Given the description of an element on the screen output the (x, y) to click on. 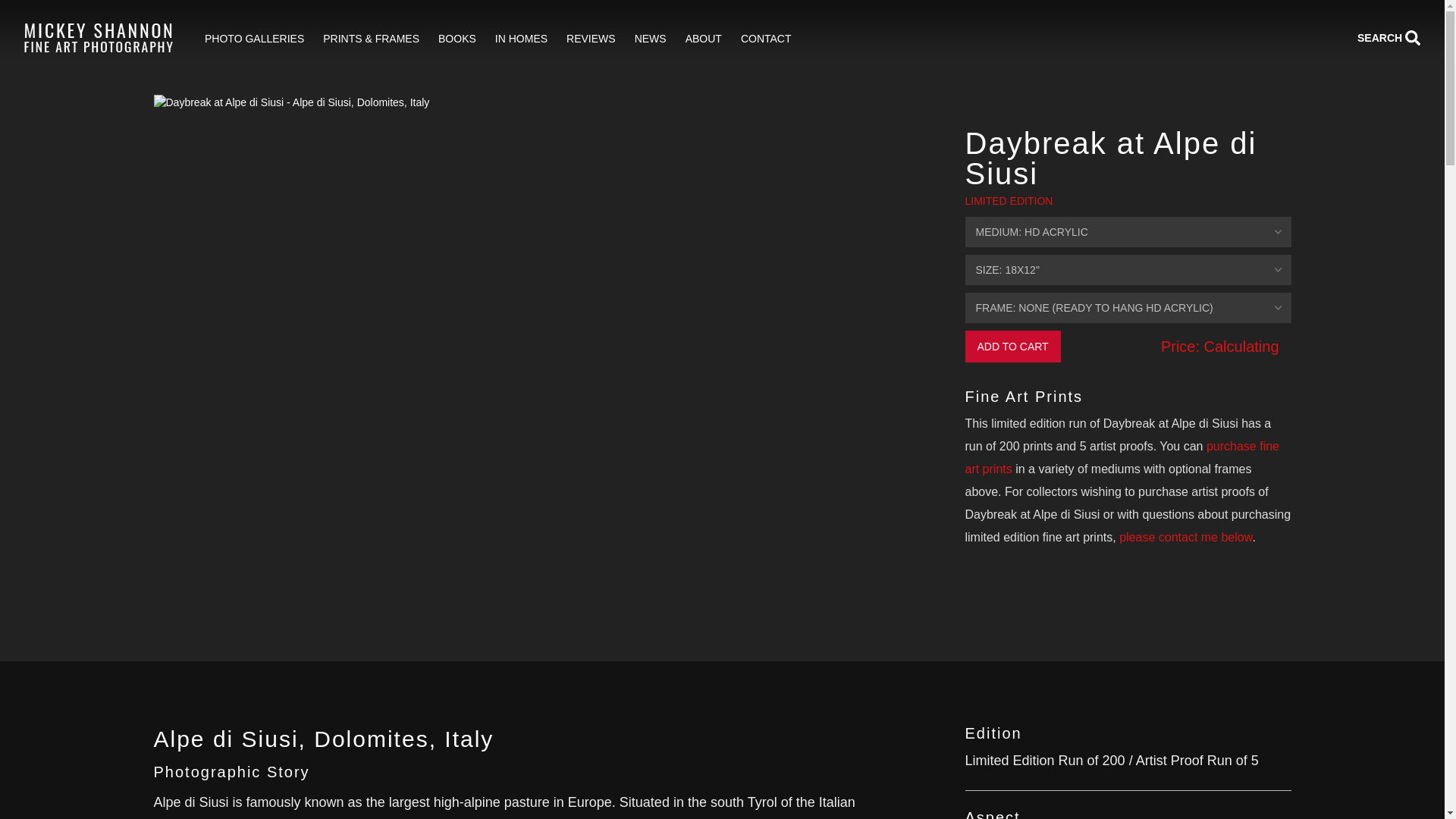
Add to Cart (1011, 346)
PHOTO GALLERIES (254, 38)
